Given the description of an element on the screen output the (x, y) to click on. 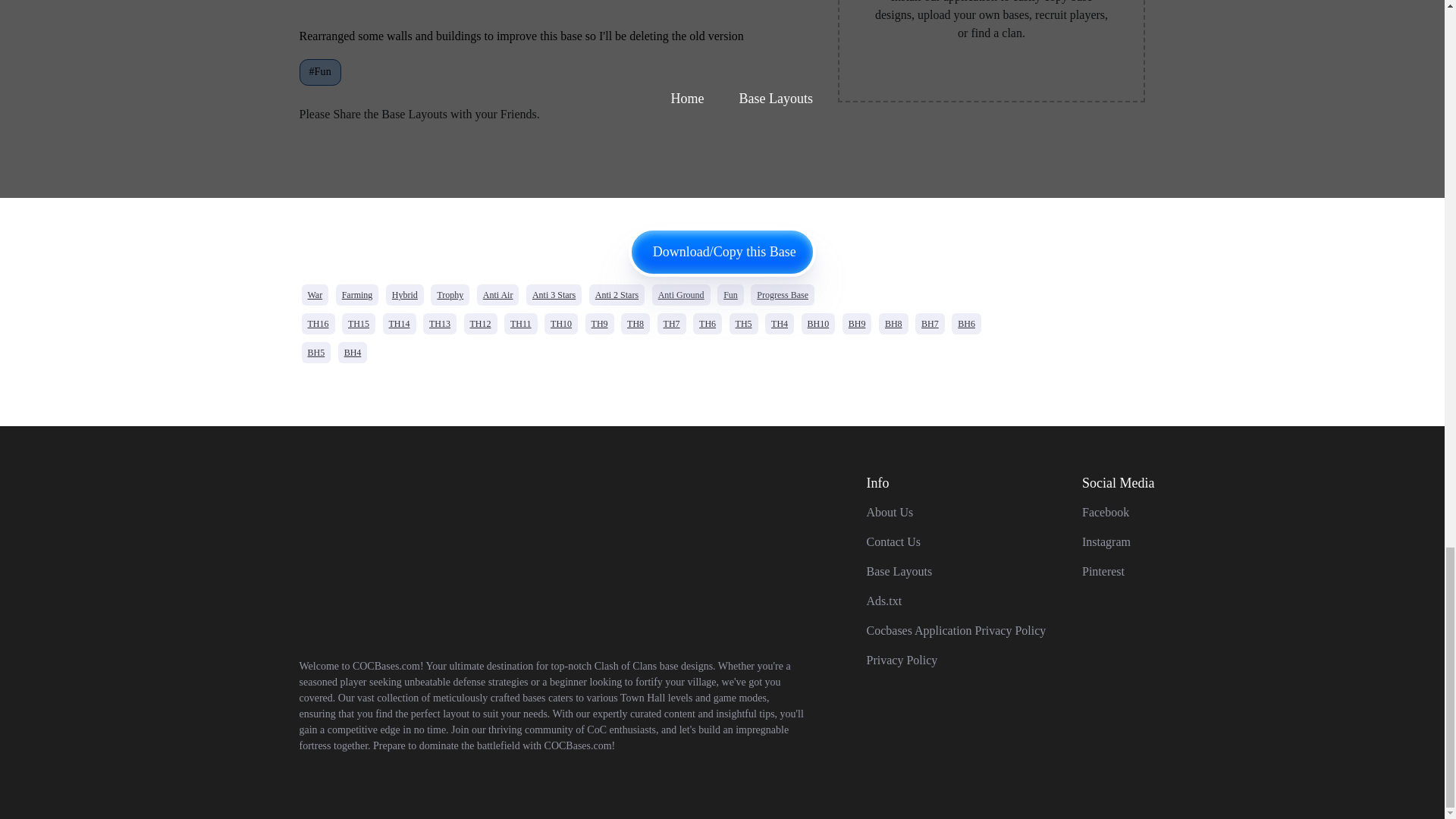
Anti Air (498, 294)
Farming (357, 294)
Anti 3 Stars (552, 294)
Fun (730, 294)
TH10 (561, 323)
TH9 (599, 323)
TH14 (397, 323)
Trophy (449, 294)
TH8 (635, 323)
Hybrid (404, 294)
